Given the description of an element on the screen output the (x, y) to click on. 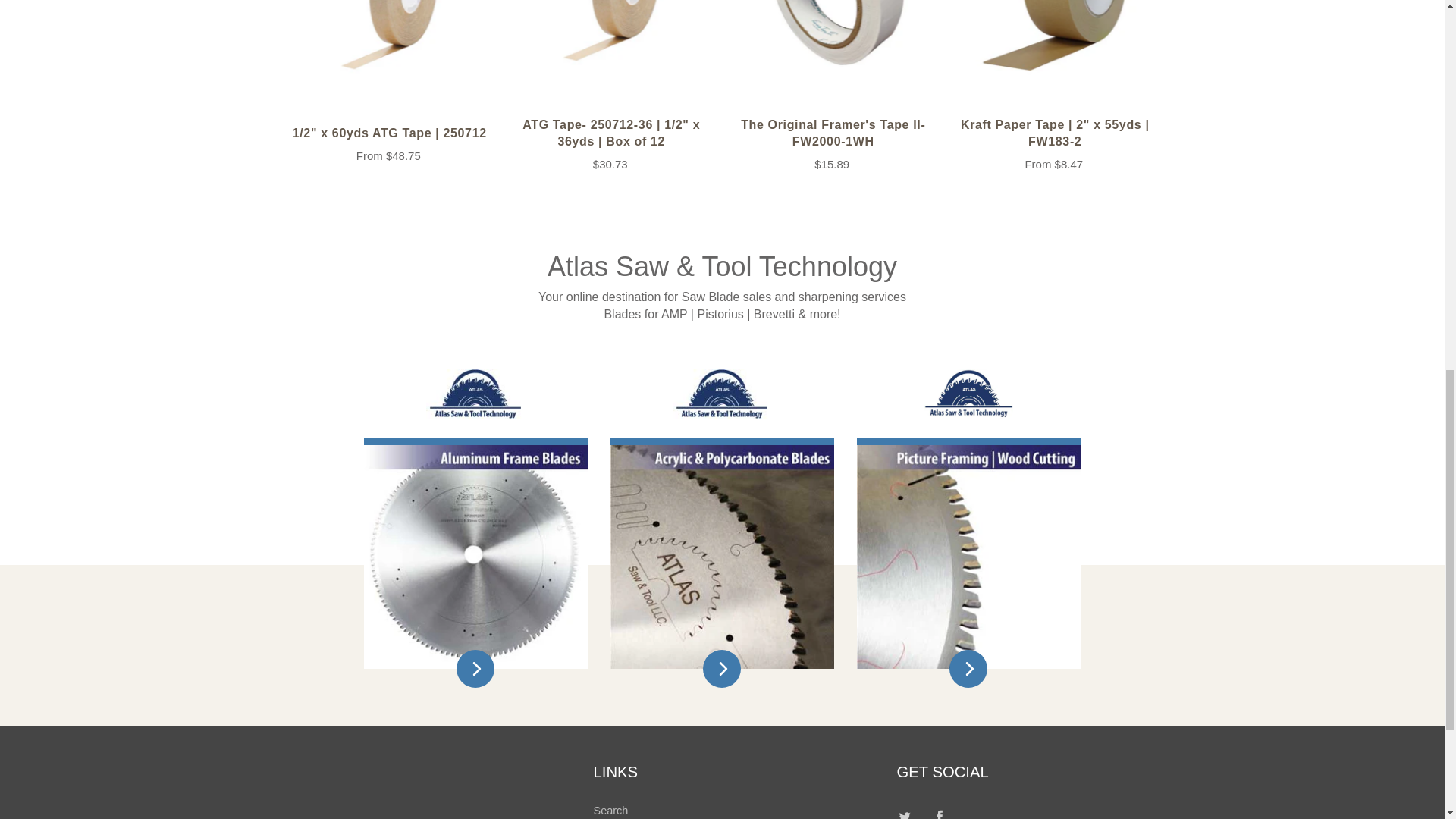
Facebook (939, 811)
Twitter (904, 811)
